Given the description of an element on the screen output the (x, y) to click on. 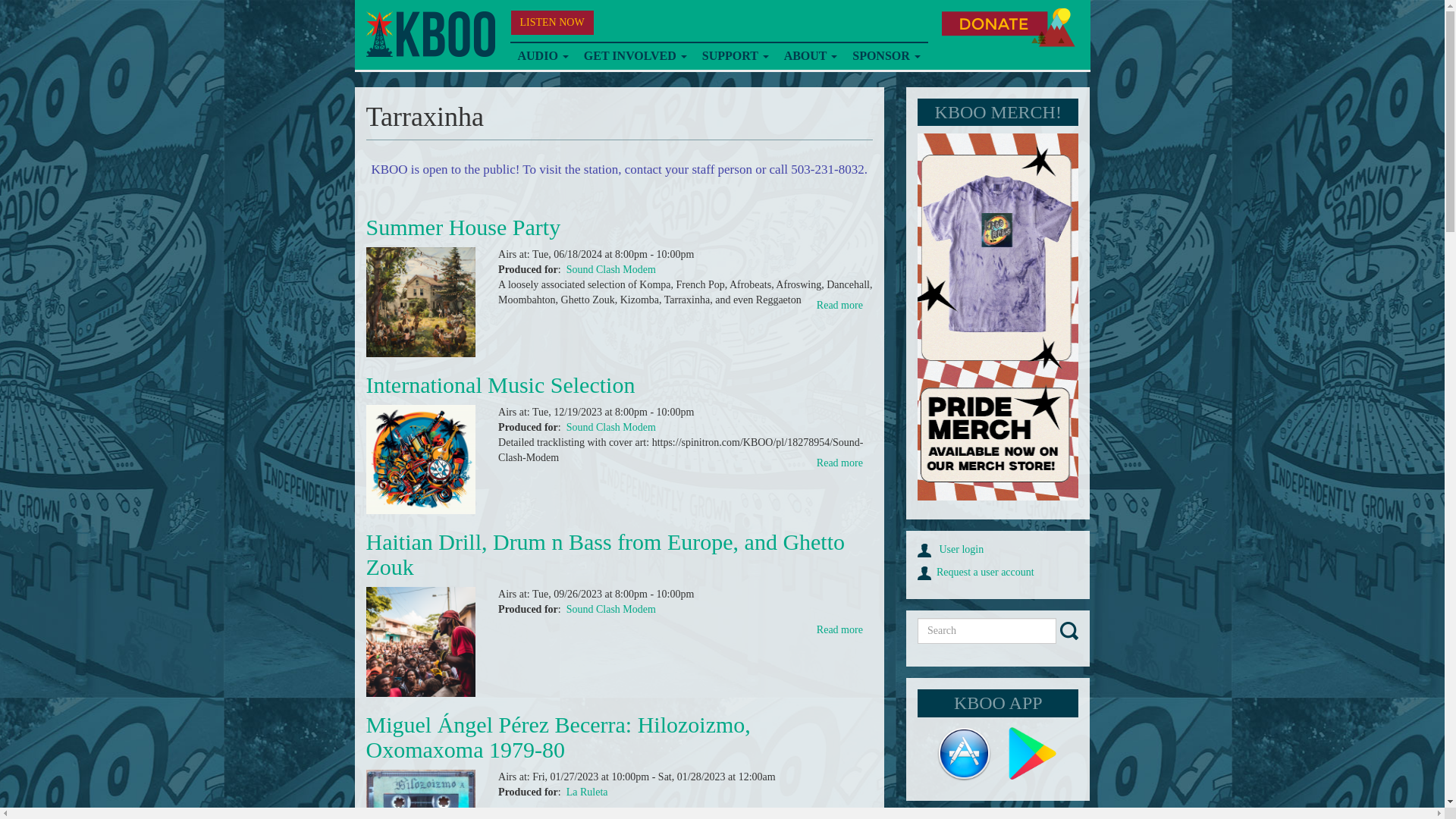
Home (430, 34)
ABOUT (810, 55)
LISTEN NOW (551, 22)
SPONSOR (886, 55)
GET INVOLVED (635, 55)
SUPPORT (735, 55)
AUDIO (542, 55)
